Given the description of an element on the screen output the (x, y) to click on. 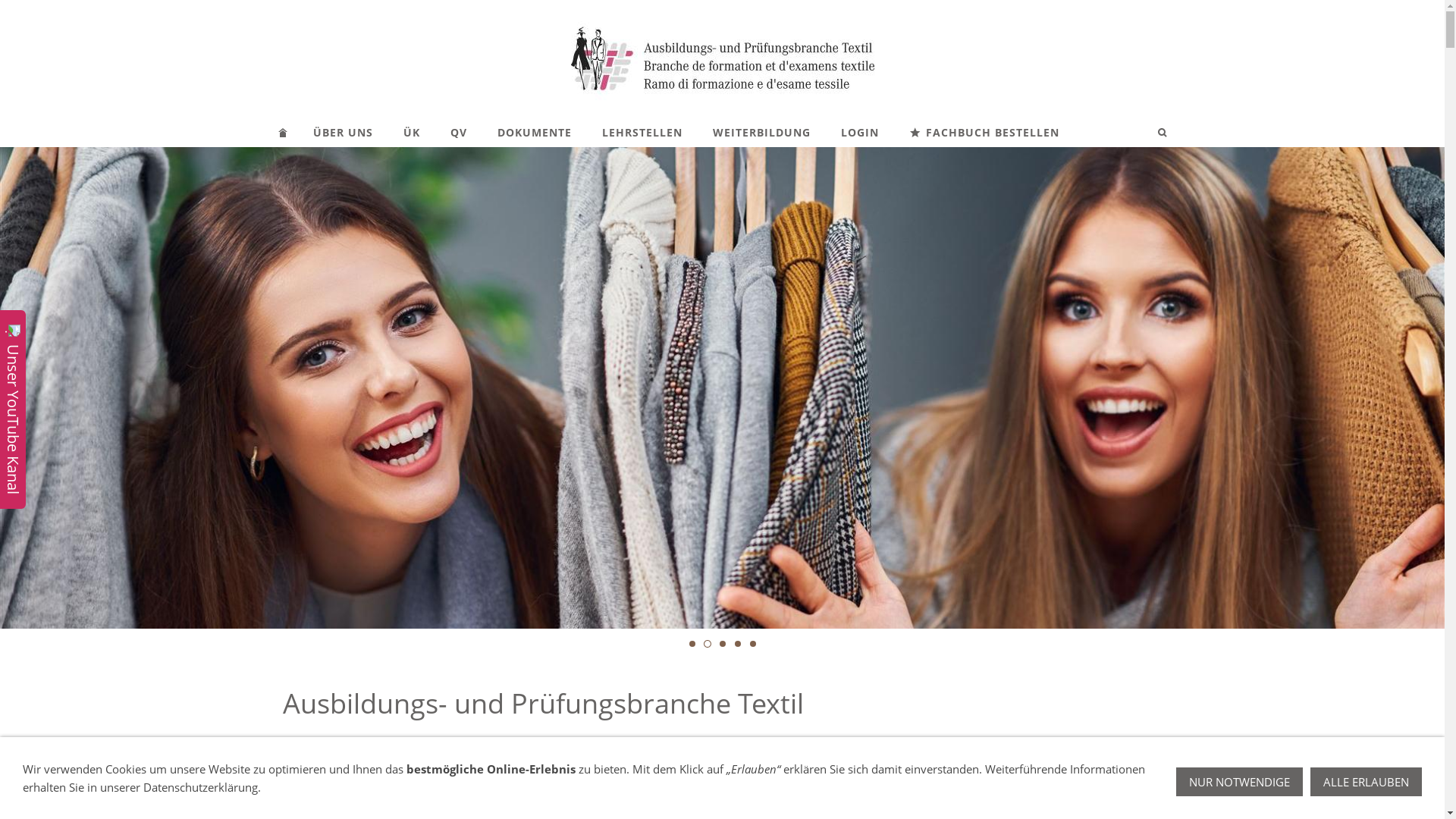
FACHBUCH BESTELLEN Element type: text (983, 132)
DOKUMENTE Element type: text (534, 132)
WEITERBILDUNG Element type: text (761, 132)
ALLE ERLAUBEN Element type: text (1365, 781)
QV Element type: text (458, 132)
LOGIN Element type: text (859, 132)
LEHRSTELLEN Element type: text (641, 132)
NUR NOTWENDIGE Element type: text (1239, 781)
